Given the description of an element on the screen output the (x, y) to click on. 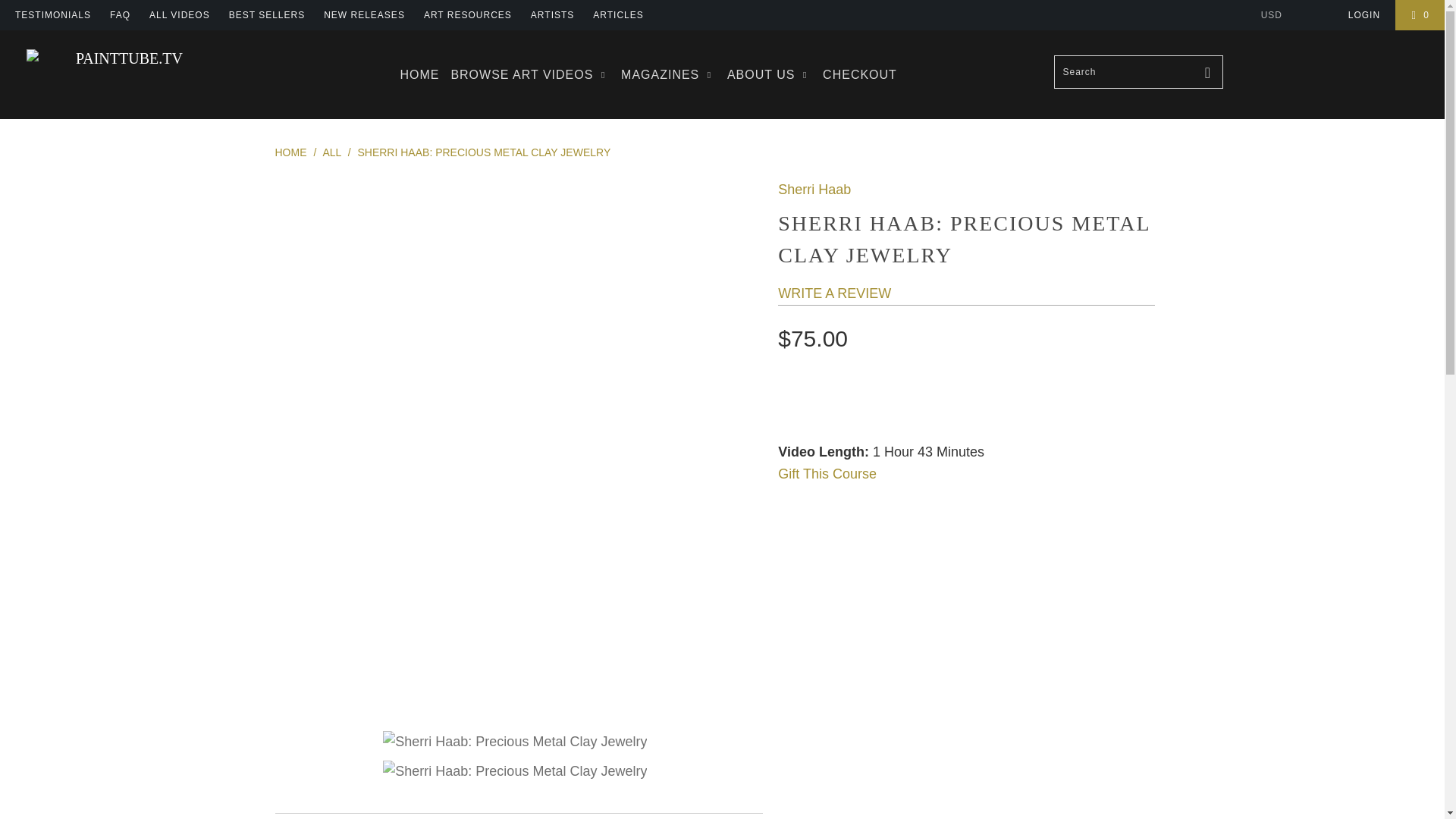
ALL VIDEOS (179, 15)
NEW RELEASES (363, 15)
ARTICLES (617, 15)
TESTIMONIALS (52, 15)
MAGAZINES (668, 74)
LOGIN (1363, 15)
HOME (418, 74)
All (332, 152)
BROWSE ART VIDEOS (529, 74)
My Account  (1363, 15)
PaintTube.tv (122, 58)
ART RESOURCES (467, 15)
BEST SELLERS (266, 15)
Sherri Haab (813, 189)
PaintTube.tv (290, 152)
